Given the description of an element on the screen output the (x, y) to click on. 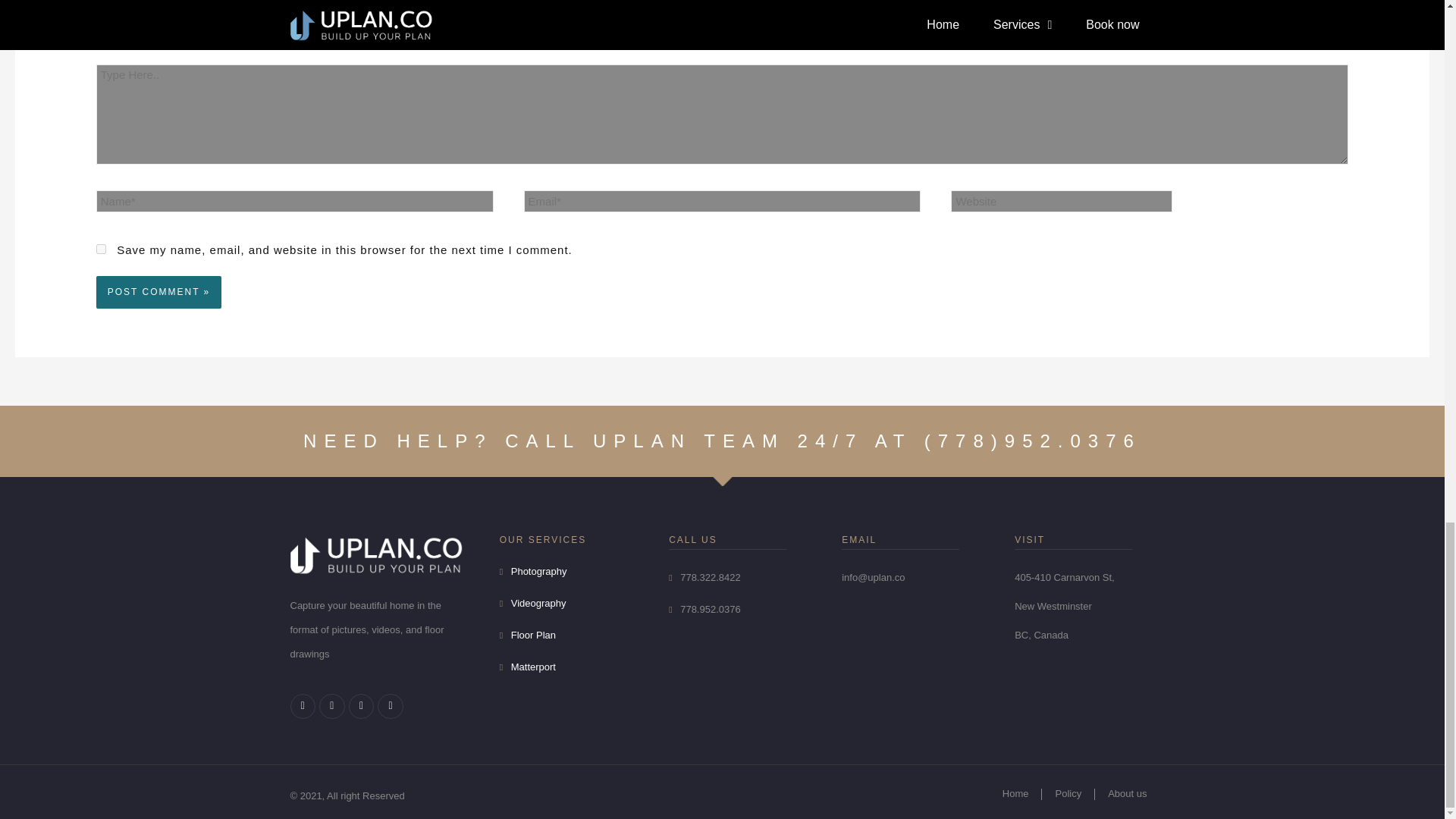
yes (101, 248)
